Given the description of an element on the screen output the (x, y) to click on. 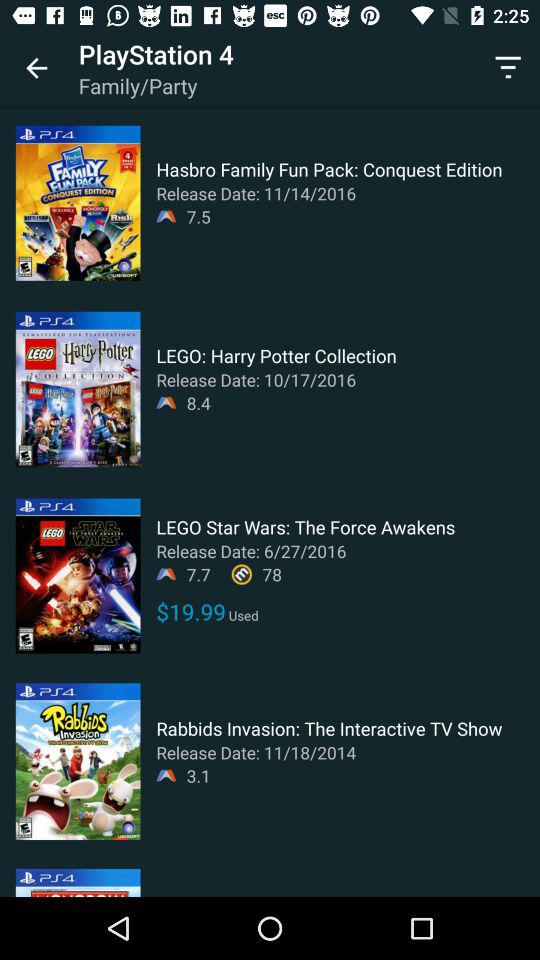
press the item to the right of playstation 4 item (508, 67)
